Given the description of an element on the screen output the (x, y) to click on. 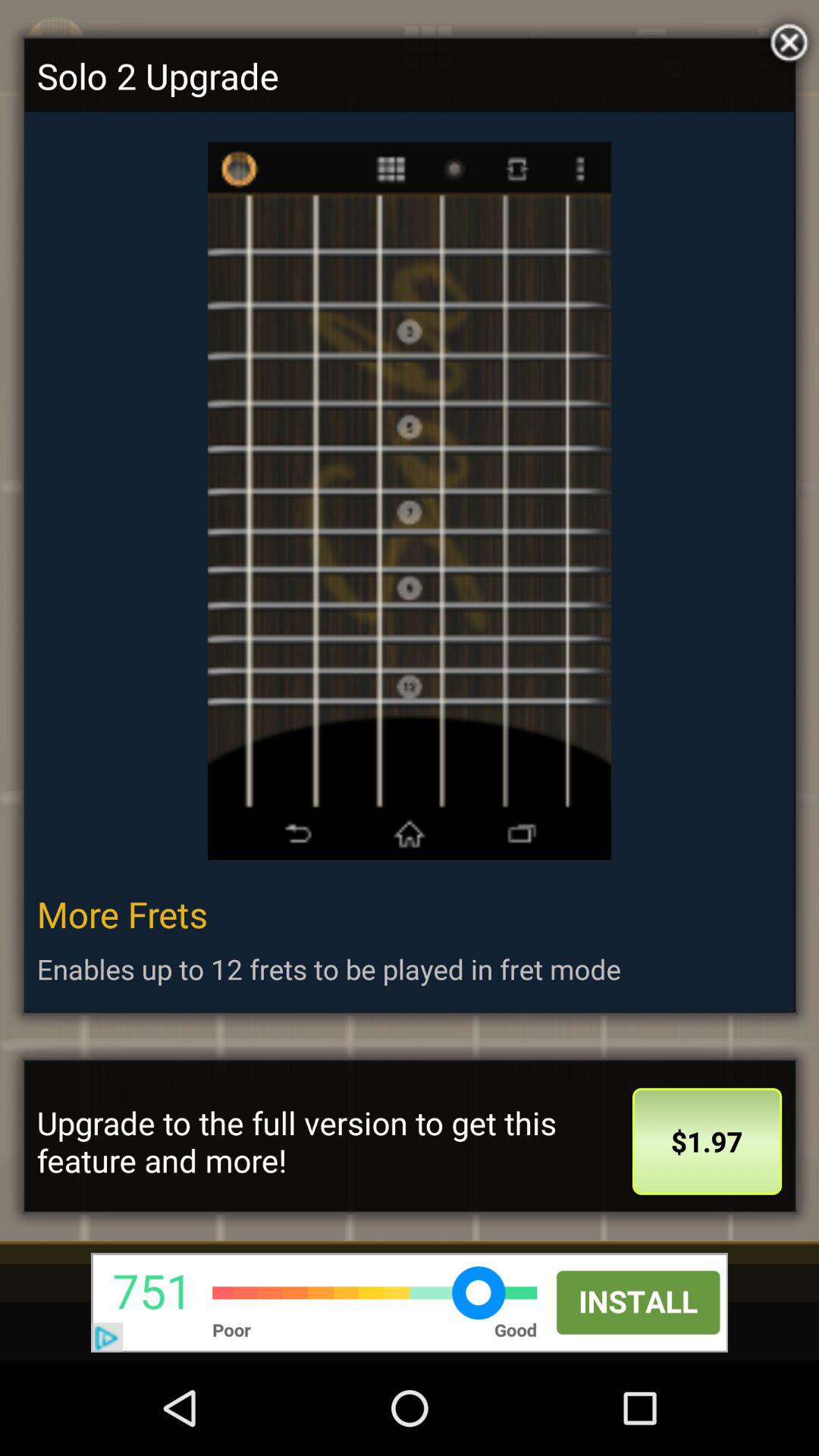
close the screen (786, 38)
